Given the description of an element on the screen output the (x, y) to click on. 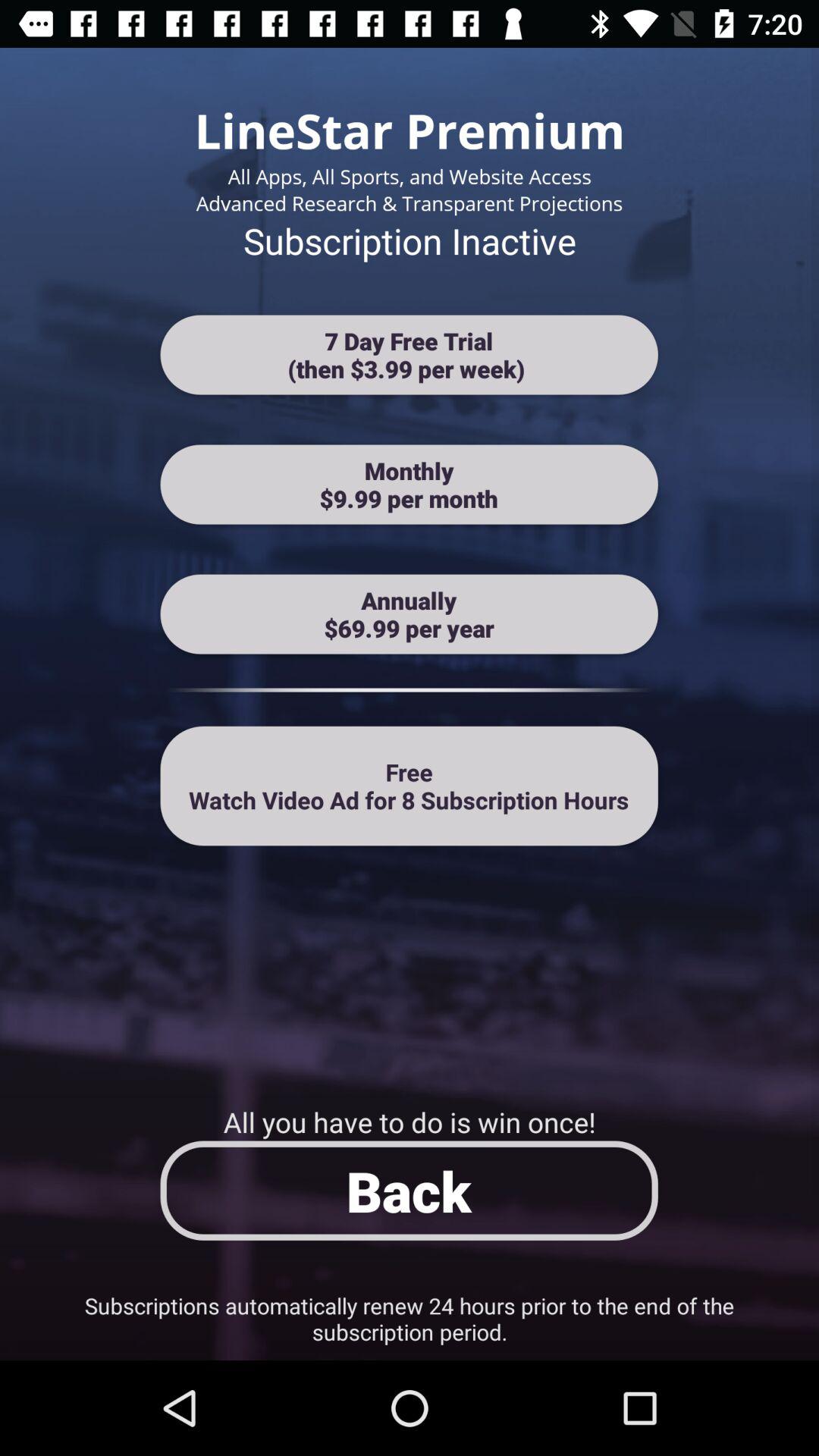
click on back (409, 1190)
